Given the description of an element on the screen output the (x, y) to click on. 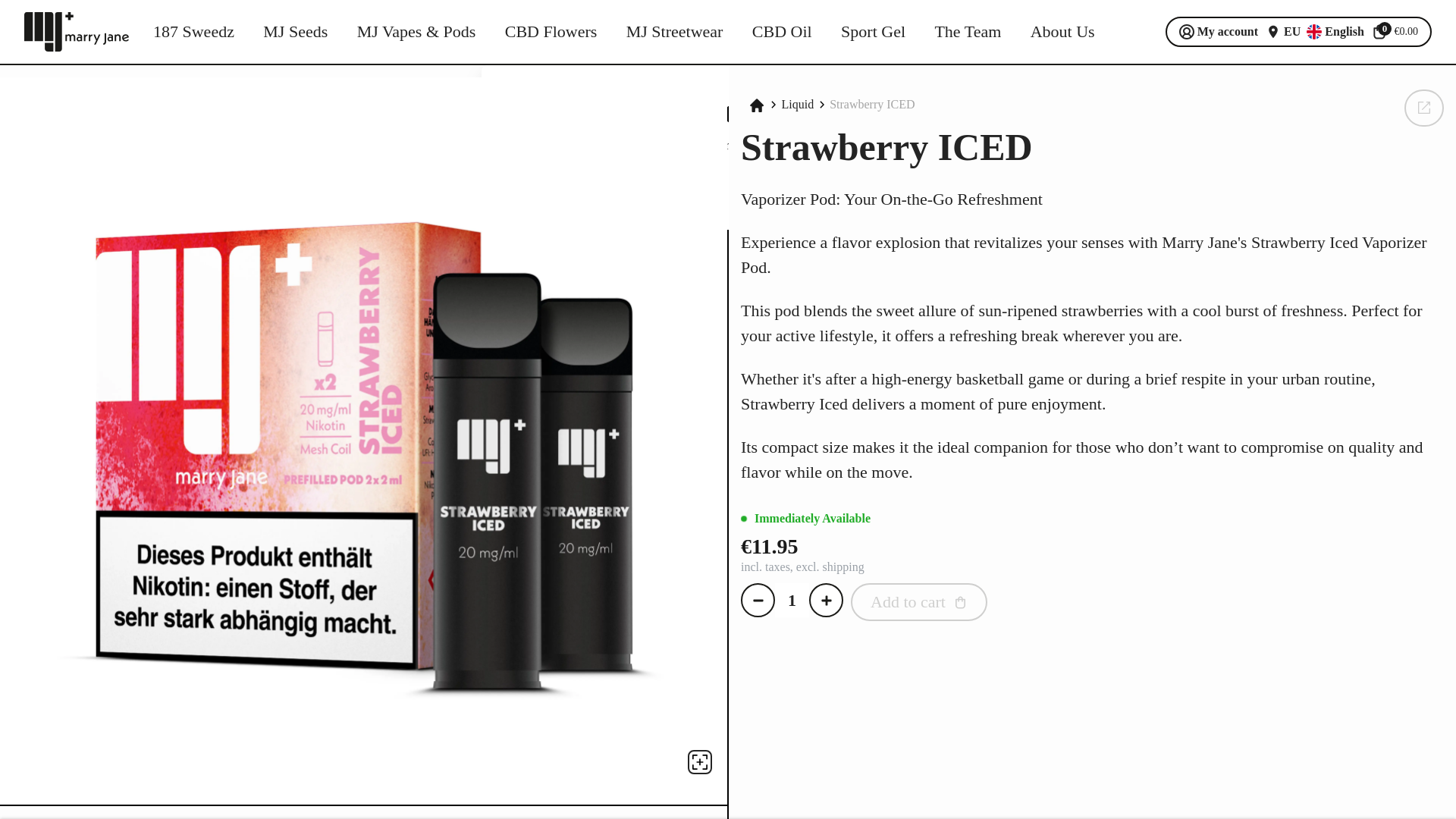
About Us (1062, 31)
Strawberry ICED (872, 104)
My account (1218, 31)
The Team (967, 31)
No thanks, (561, 186)
Sport Gel (873, 31)
MJ Streetwear (674, 31)
CBD Oil (782, 31)
187 Sweedz (193, 31)
1 (791, 600)
